Given the description of an element on the screen output the (x, y) to click on. 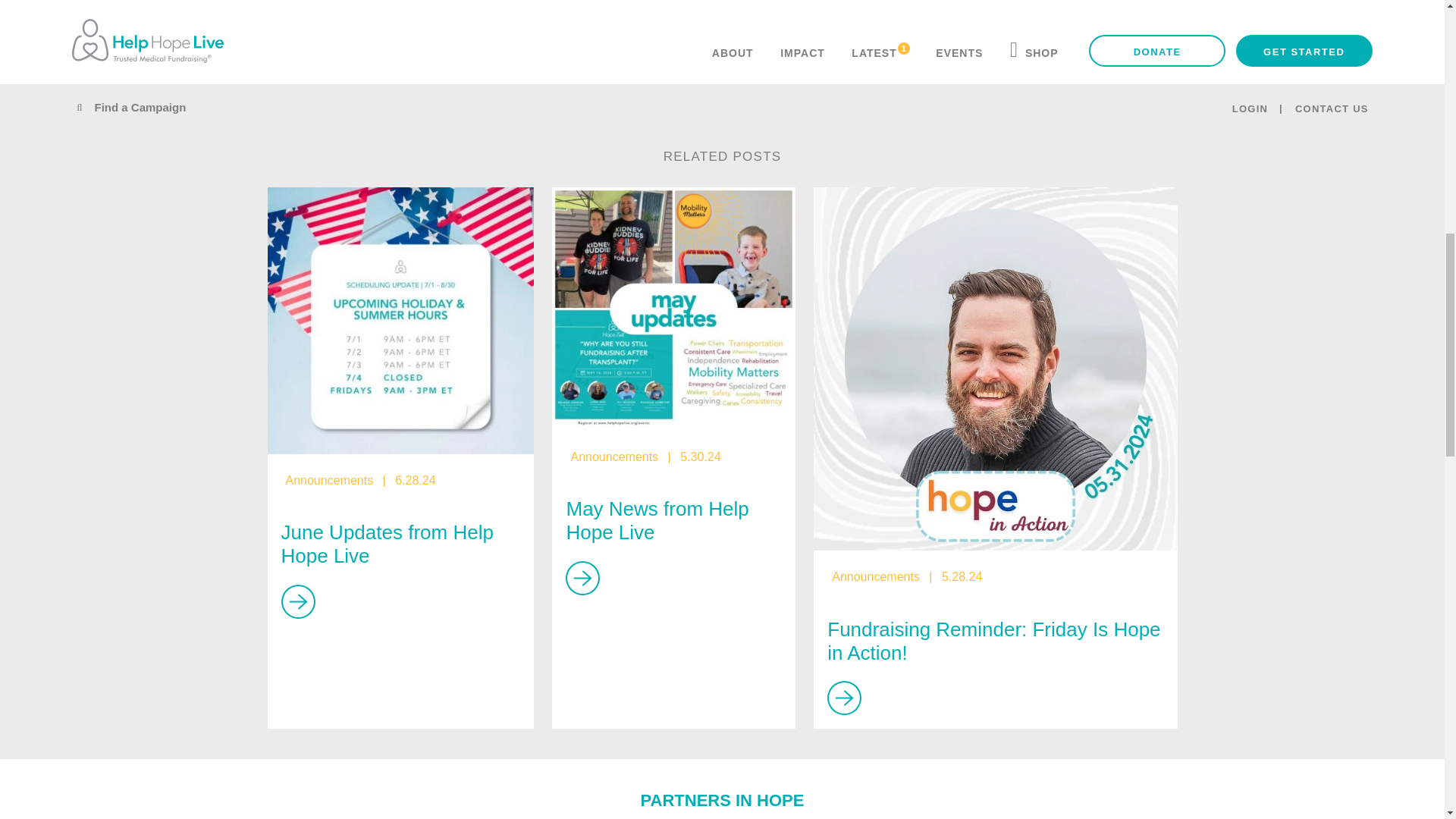
Written by Emily Progin (571, 53)
May News from Help Hope Live (672, 308)
Fundraising Reminder: Friday Is Hope in Action! (994, 368)
June Updates from Help Hope Live (400, 320)
Announcements (328, 480)
